Given the description of an element on the screen output the (x, y) to click on. 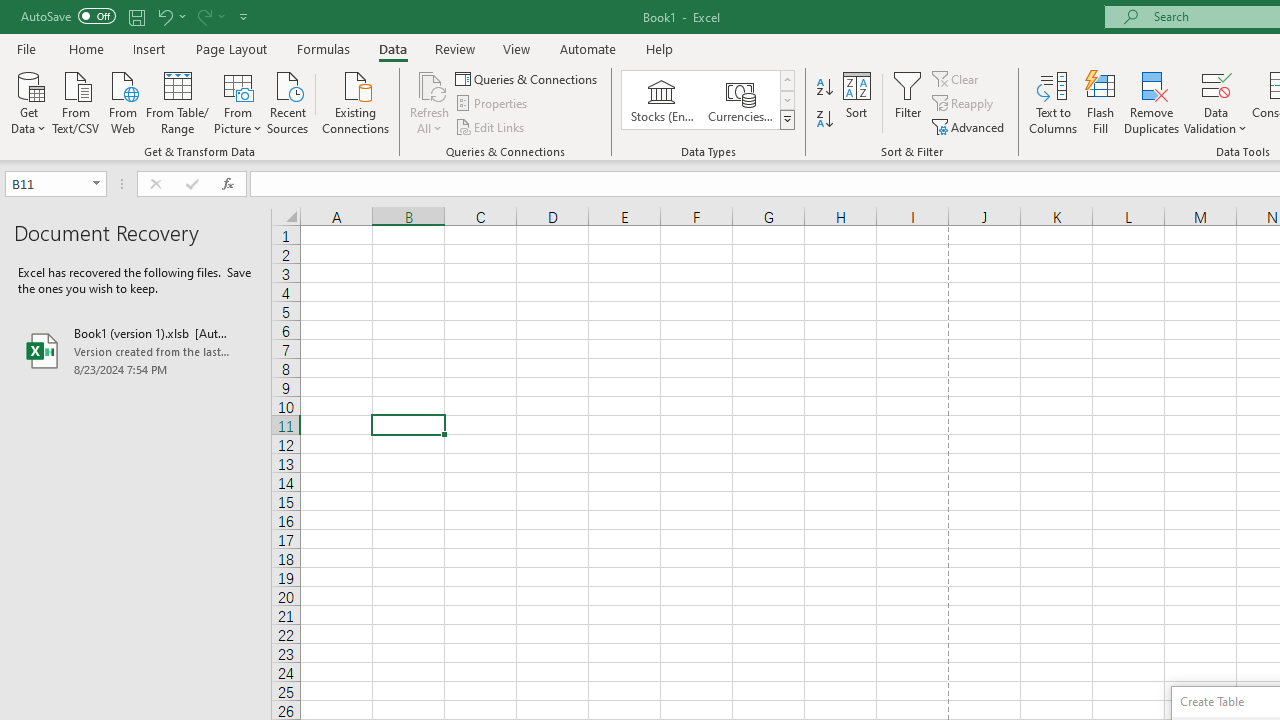
Advanced... (970, 126)
Recent Sources (287, 101)
Remove Duplicates (1151, 102)
From Web (122, 101)
Help (660, 48)
Automate (588, 48)
Refresh All (429, 84)
Quick Access Toolbar (136, 16)
Review (454, 48)
Currencies (English) (740, 100)
From Table/Range (177, 101)
